Given the description of an element on the screen output the (x, y) to click on. 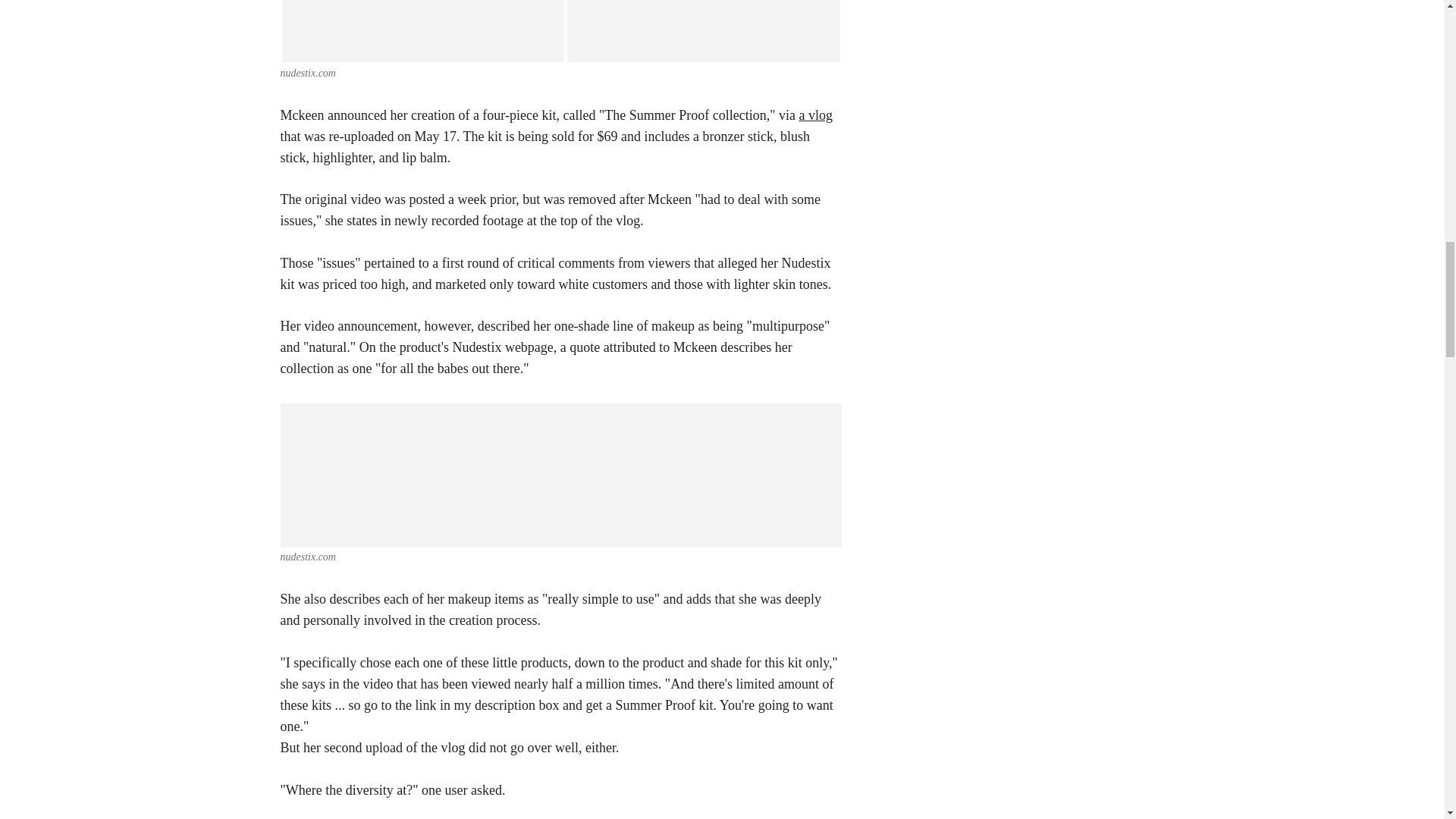
nudestix.com (308, 556)
nudestix.com (308, 72)
a vlog (815, 114)
